Given the description of an element on the screen output the (x, y) to click on. 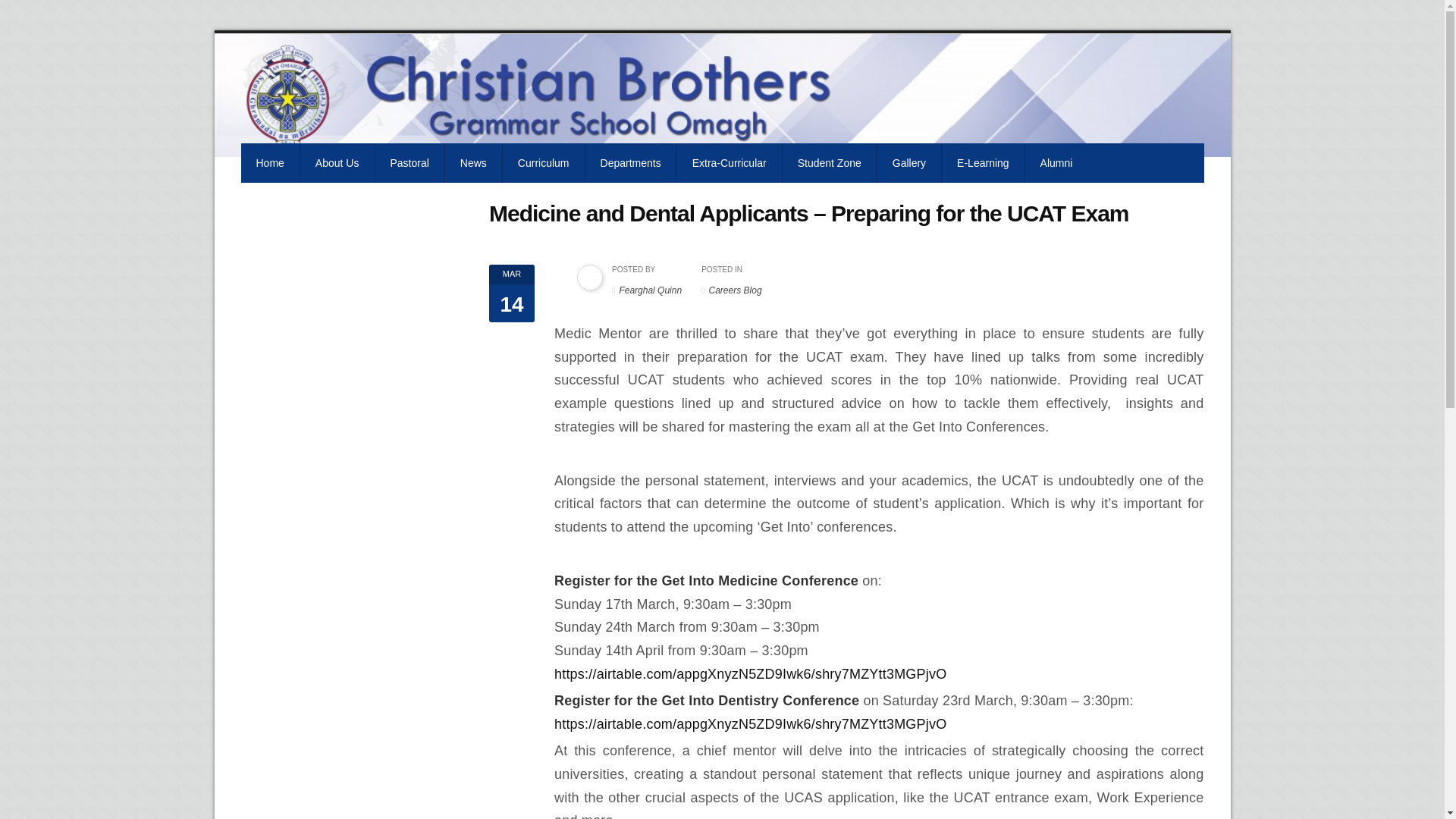
Pastoral (409, 162)
Home (270, 162)
About Us (337, 162)
News (473, 162)
Departments (631, 162)
Curriculum (543, 162)
